Given the description of an element on the screen output the (x, y) to click on. 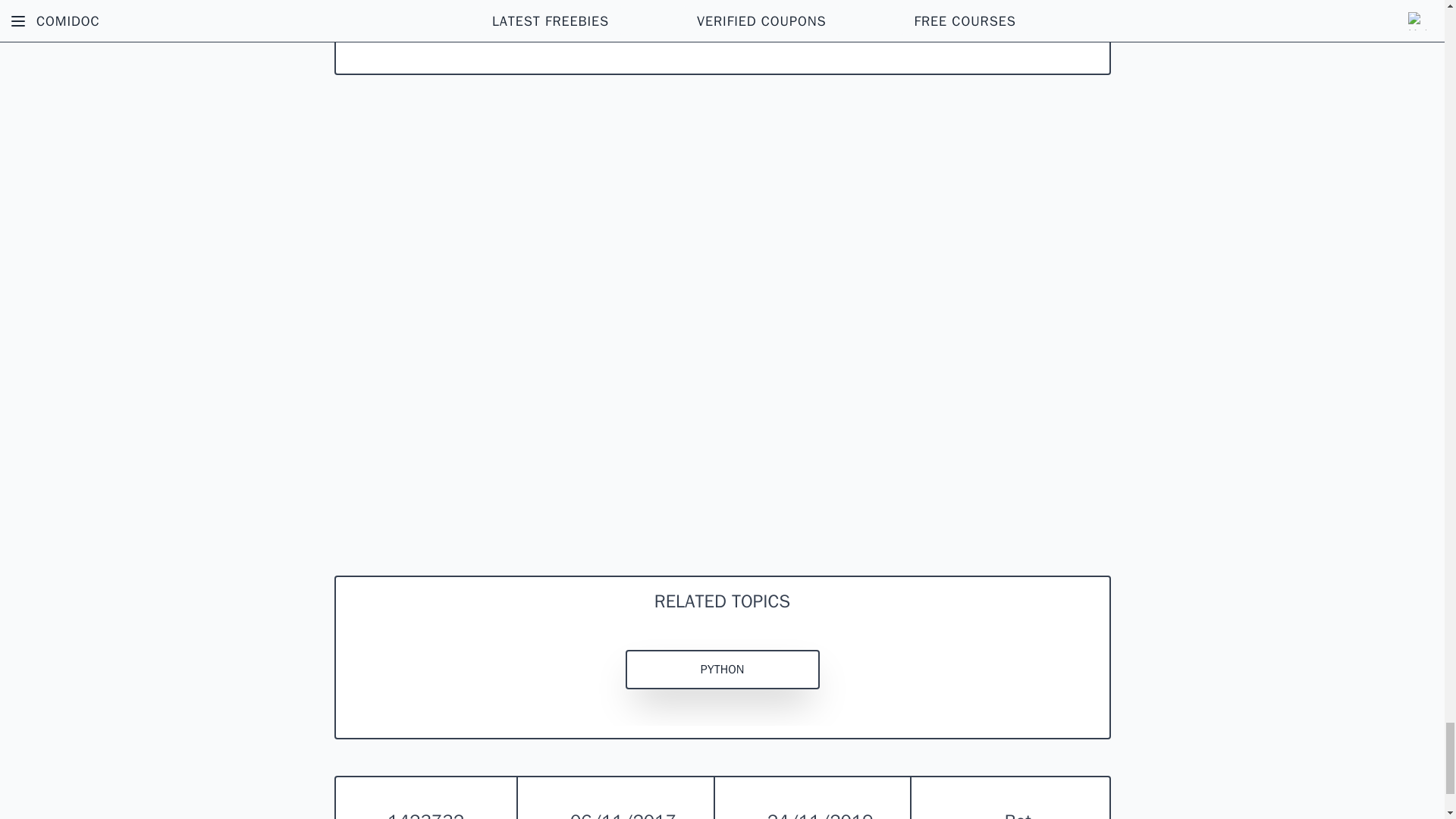
PYTHON (721, 669)
